Given the description of an element on the screen output the (x, y) to click on. 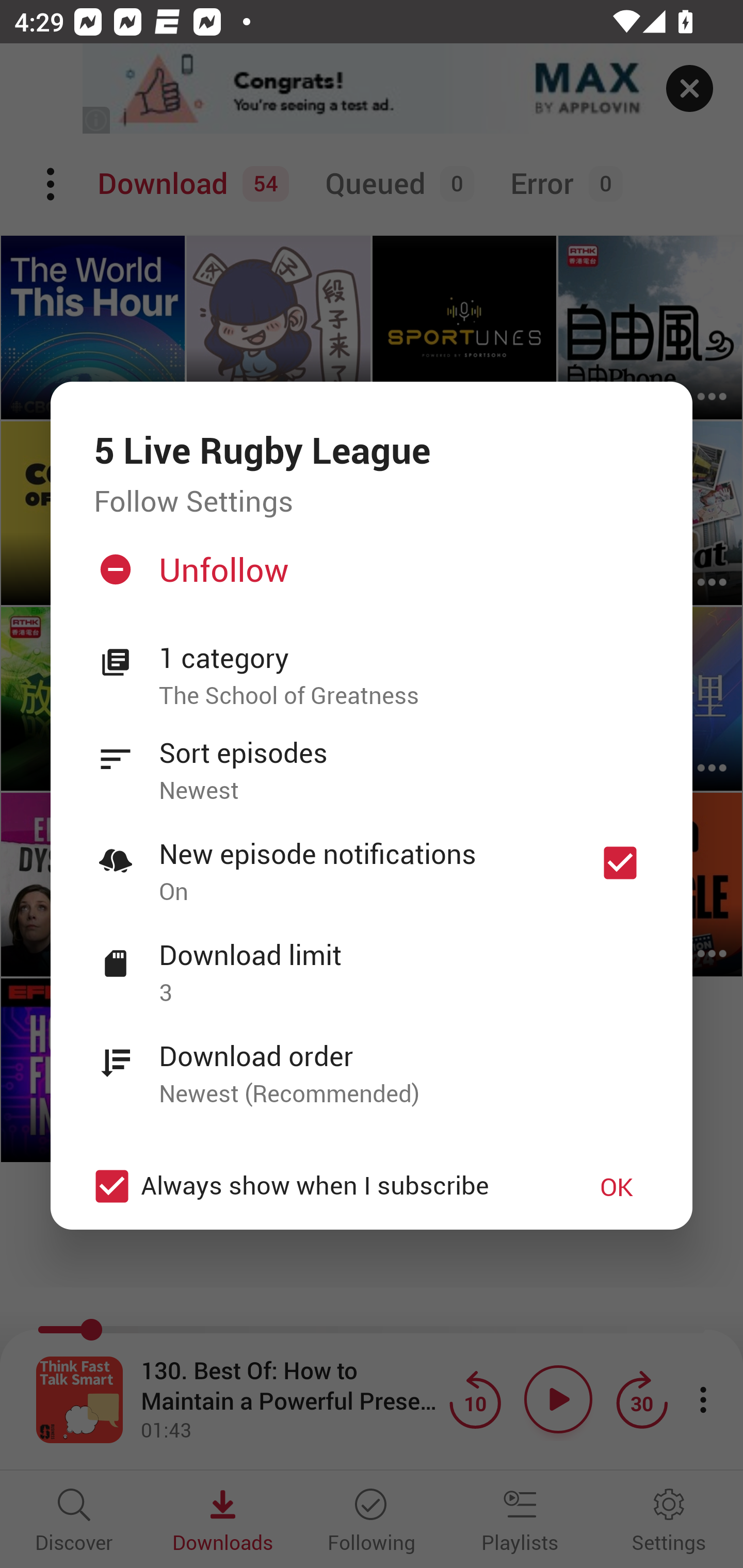
Unfollow (369, 576)
1 category (404, 658)
The School of Greatness (404, 696)
Sort episodes Newest (371, 760)
New episode notifications (620, 863)
Download limit 3 (371, 962)
Download order Newest (Recommended) (371, 1063)
OK (616, 1186)
Always show when I subscribe (320, 1186)
